Given the description of an element on the screen output the (x, y) to click on. 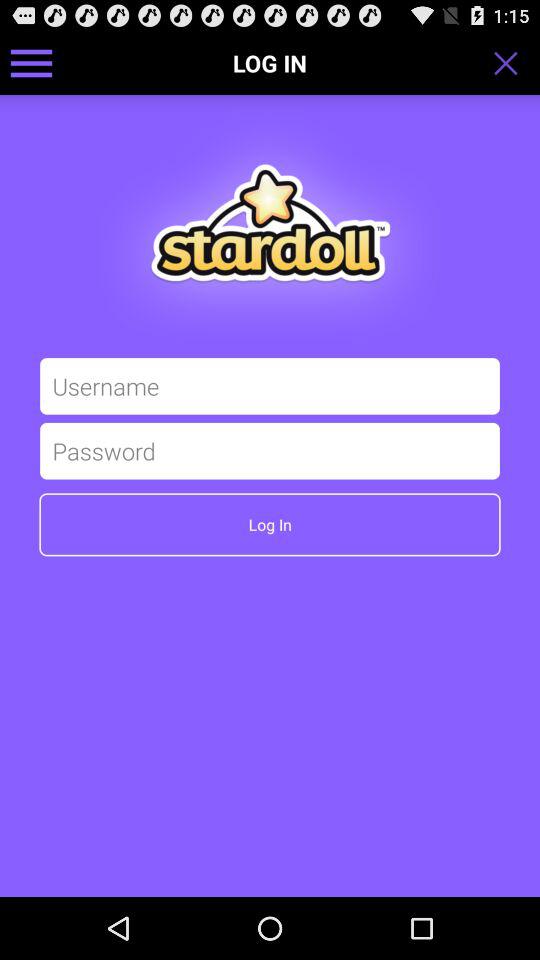
press icon at the top left corner (31, 62)
